Given the description of an element on the screen output the (x, y) to click on. 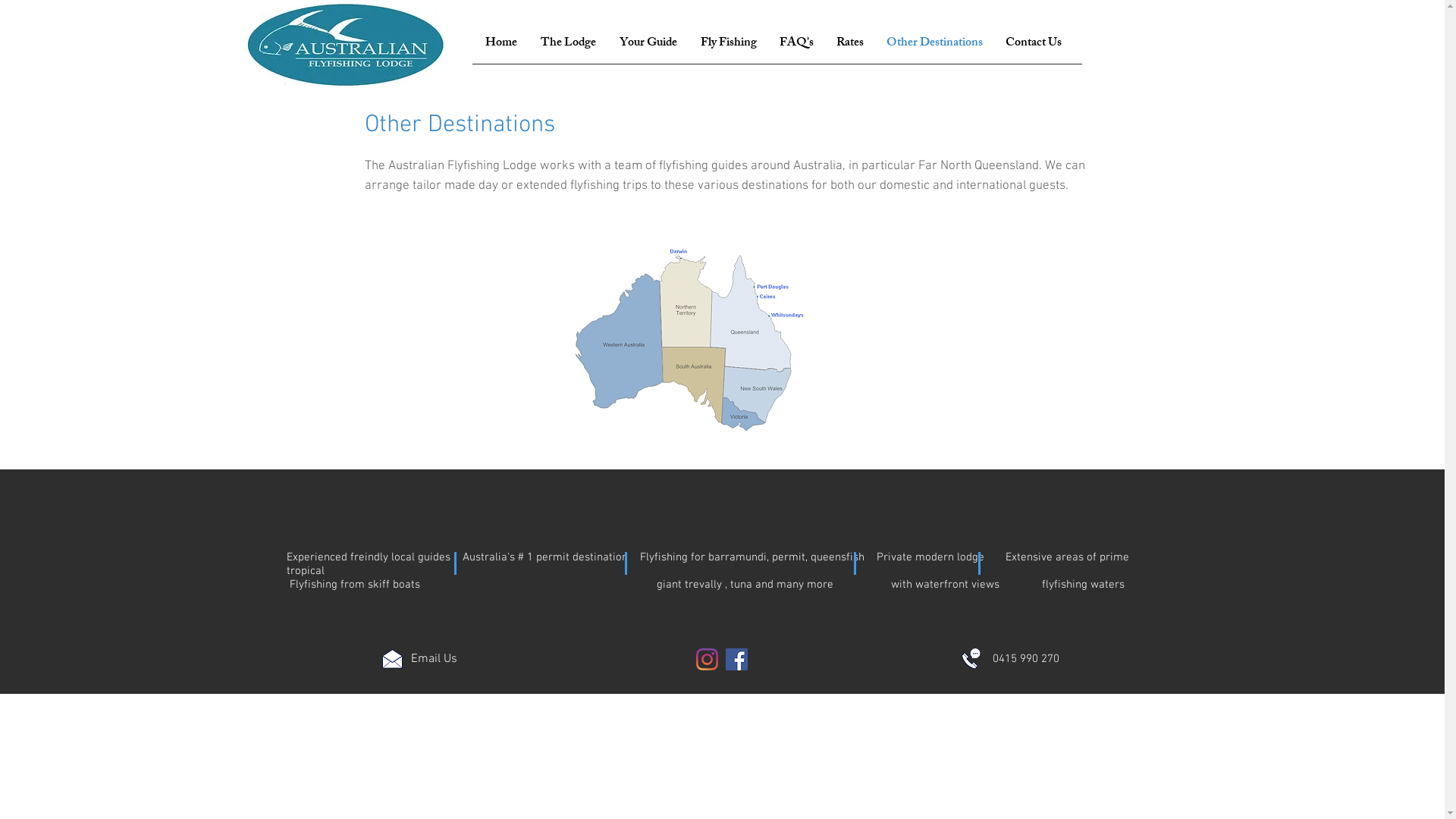
logo blue 2.jpg Element type: hover (345, 45)
The Lodge Element type: text (568, 43)
FAQ's Element type: text (795, 43)
Home Element type: text (500, 43)
Your Guide Element type: text (648, 43)
Other Destinations Element type: text (934, 43)
Contact Us Element type: text (1032, 43)
Fly Fishing Element type: text (727, 43)
Email Us Element type: text (434, 658)
Rates Element type: text (850, 43)
